Given the description of an element on the screen output the (x, y) to click on. 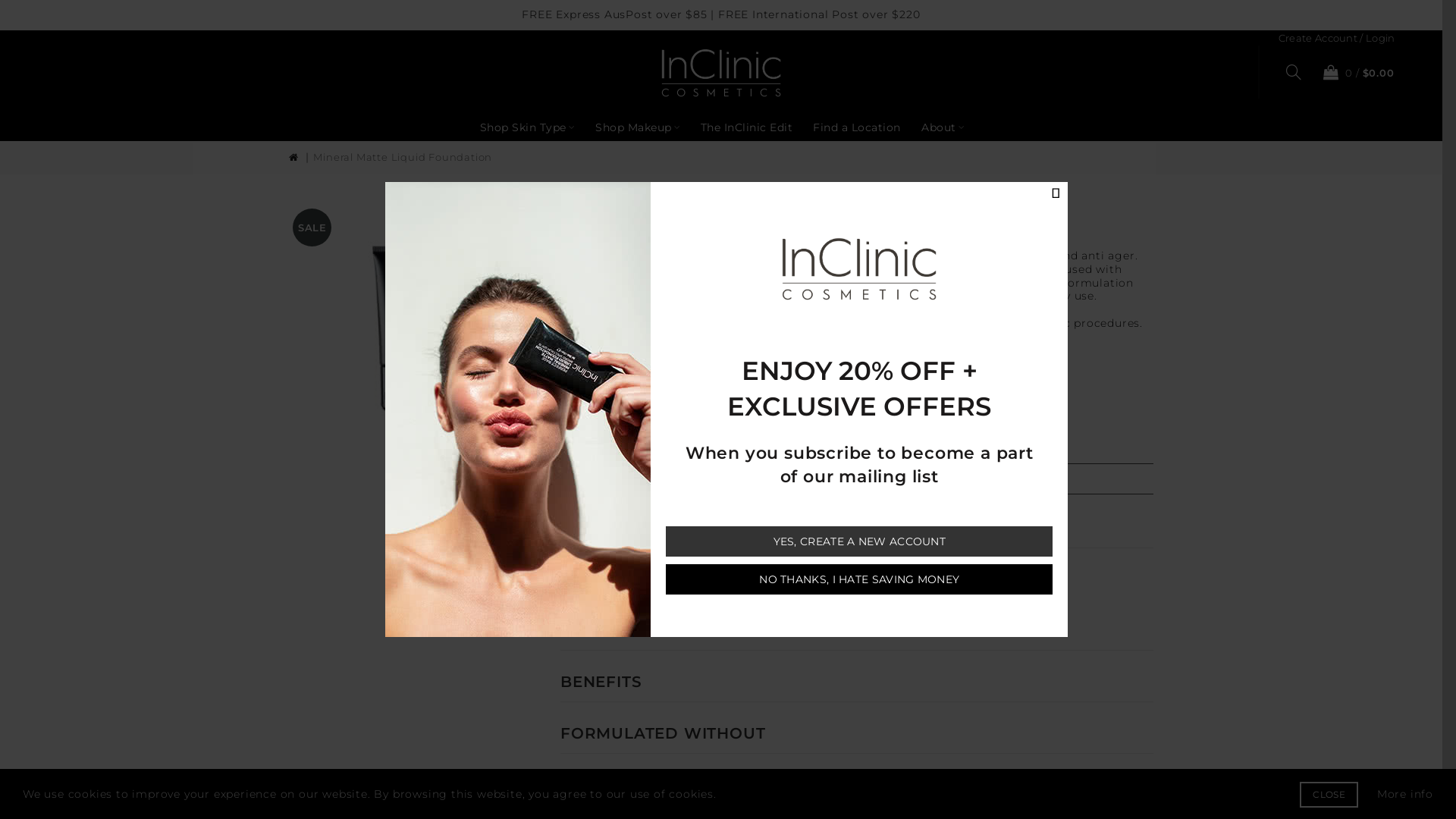
BENEFITS Element type: text (600, 681)
About Element type: text (942, 127)
COLOUR MATCH Element type: text (629, 630)
InClinic Cosmetics | Perfect Base Mineral Liquid Foundation Element type: hover (411, 327)
The InClinic Edit Element type: text (746, 127)
Foundations Element type: text (635, 564)
ADD TO CART Element type: text (674, 524)
0 / $0.00 Element type: text (1354, 71)
FORMULATED WITHOUT Element type: text (662, 733)
Mineral Matte Liquid Foundation Element type: text (402, 156)
Find a Location Element type: text (856, 127)
Shop Skin Type Element type: text (526, 127)
Foundation Finder Quiz Element type: text (629, 351)
Create Account / Login Element type: text (1336, 37)
YES, CREATE A NEW ACCOUNT Element type: text (858, 541)
Shop Makeup Element type: text (637, 127)
More info Element type: text (1405, 793)
CLOSE Element type: text (1328, 794)
HOW TO USE Element type: text (615, 784)
InClinic Cosmetics Element type: hover (720, 72)
